Given the description of an element on the screen output the (x, y) to click on. 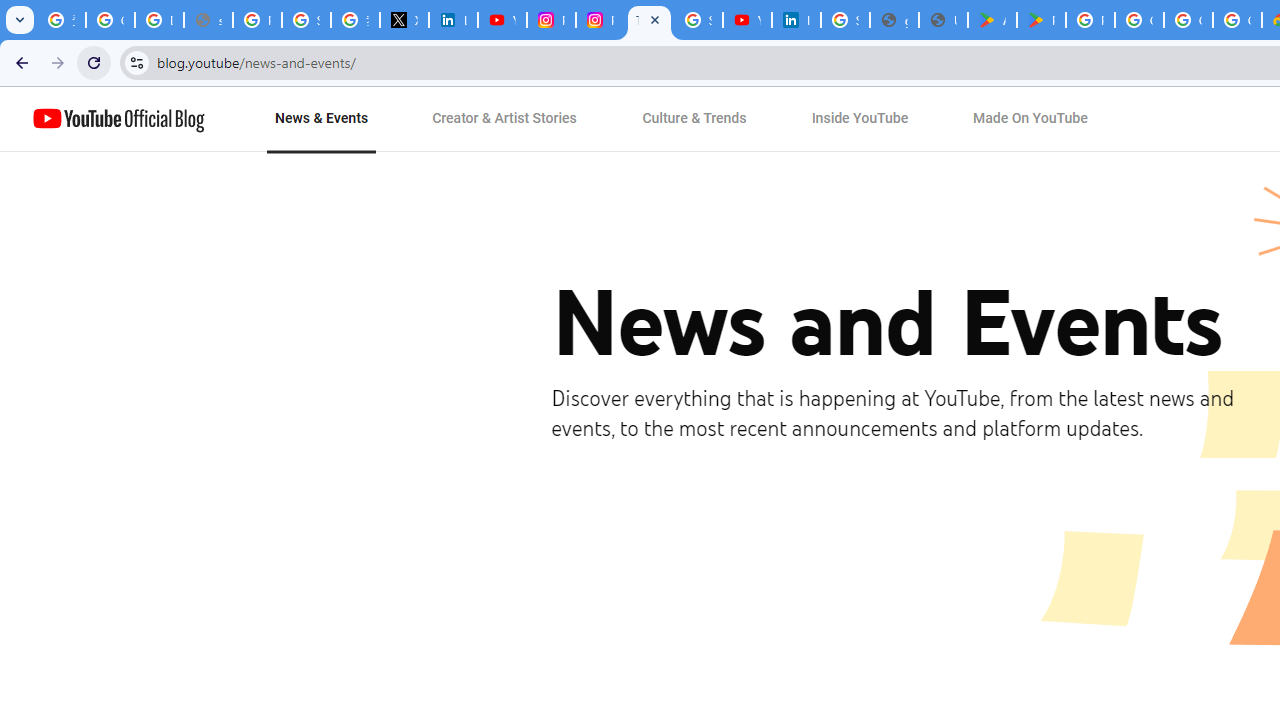
Inside YouTube (859, 119)
Made On YouTube (1030, 119)
Culture & Trends (694, 119)
Google Workspace - Specific Terms (1188, 20)
News & Events (321, 119)
Privacy Help Center - Policies Help (257, 20)
Creator & Artist Stories (505, 119)
support.google.com - Network error (208, 20)
